Given the description of an element on the screen output the (x, y) to click on. 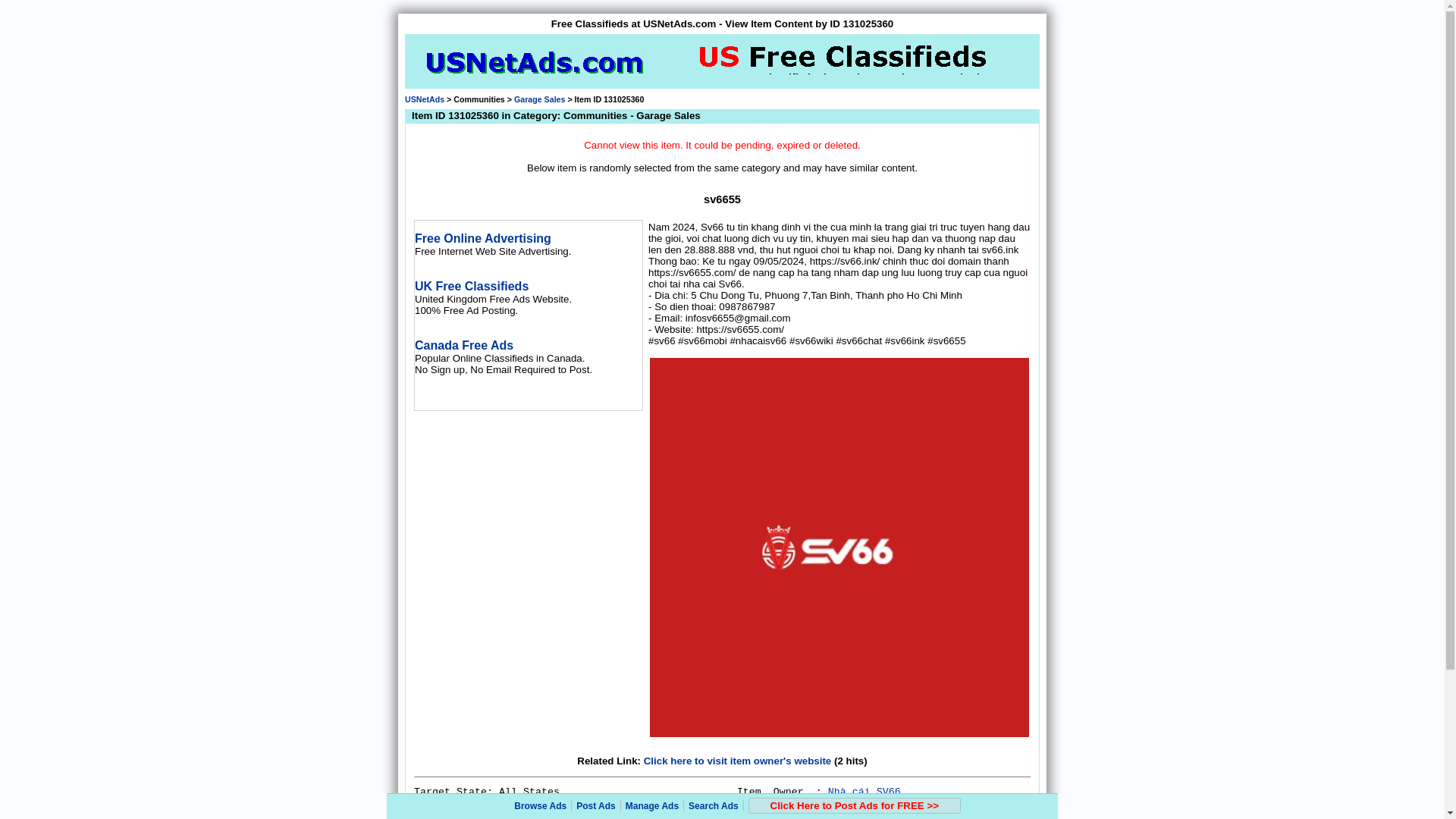
Free Online Advertising (482, 237)
USNetAds (424, 99)
Manage Ads (652, 805)
UK Free Classifieds (471, 286)
Browse Ads (539, 805)
Garage Sales (539, 99)
Go Back to USNetAds.com Home Page (424, 99)
Post Ads (595, 805)
Browse all items posted by this owner (864, 791)
Click here to visit item owner's website (737, 760)
